Given the description of an element on the screen output the (x, y) to click on. 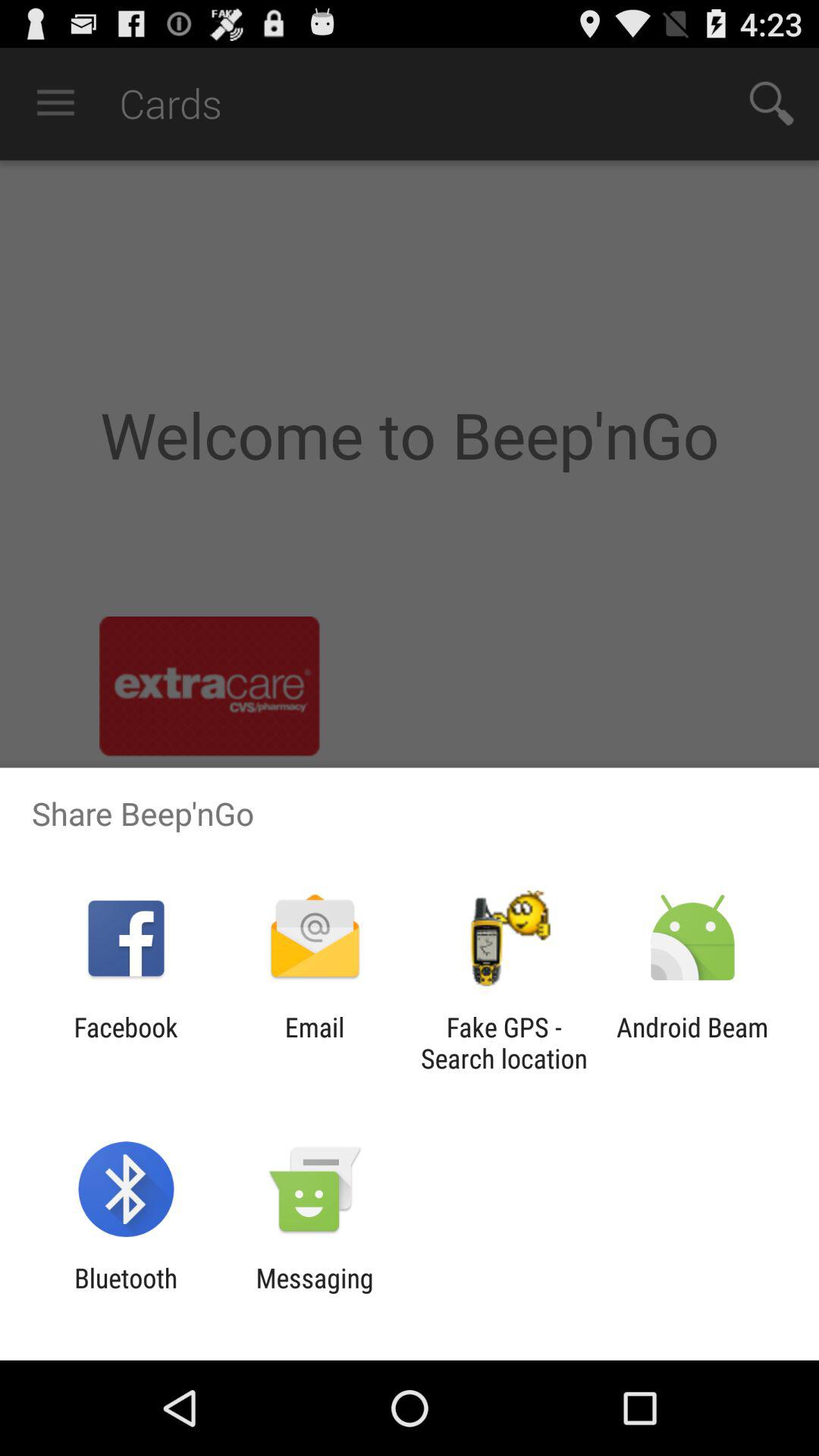
turn off fake gps search item (503, 1042)
